Given the description of an element on the screen output the (x, y) to click on. 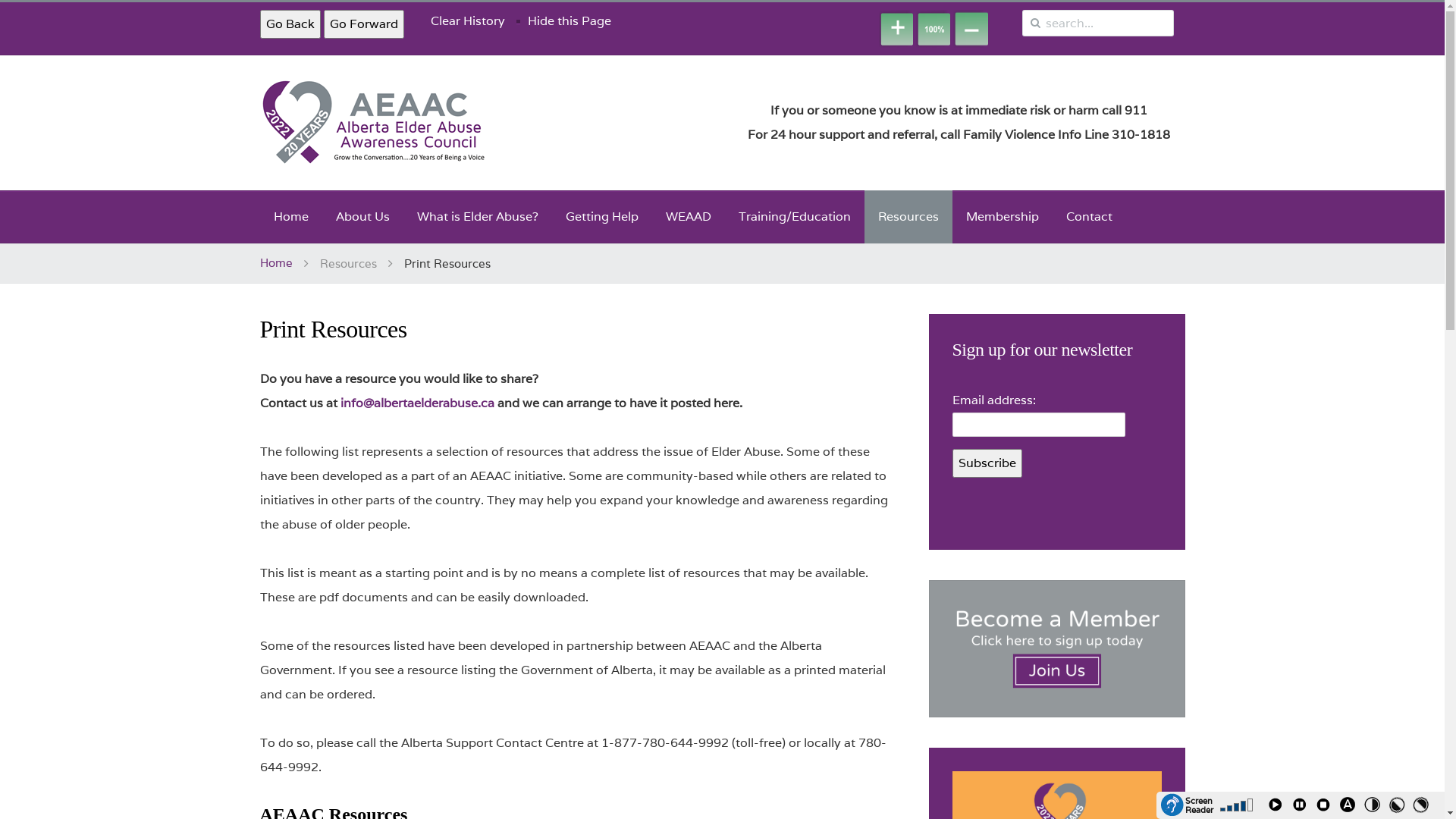
Home Element type: text (290, 216)
Go Forward Element type: text (363, 23)
WEAAD Element type: text (688, 216)
Hide this Page Element type: text (569, 20)
Clear History Element type: text (467, 20)
Resources Element type: text (908, 216)
What is Elder Abuse? Element type: text (477, 216)
Getting Help Element type: text (602, 216)
Membership Element type: text (1002, 216)
info@albertaelderabuse.ca Element type: text (416, 403)
Home Element type: text (275, 263)
Subscribe Element type: text (987, 462)
Go Back Element type: text (289, 23)
About Us Element type: text (361, 216)
Contact Element type: text (1089, 216)
Training/Education Element type: text (794, 216)
